Given the description of an element on the screen output the (x, y) to click on. 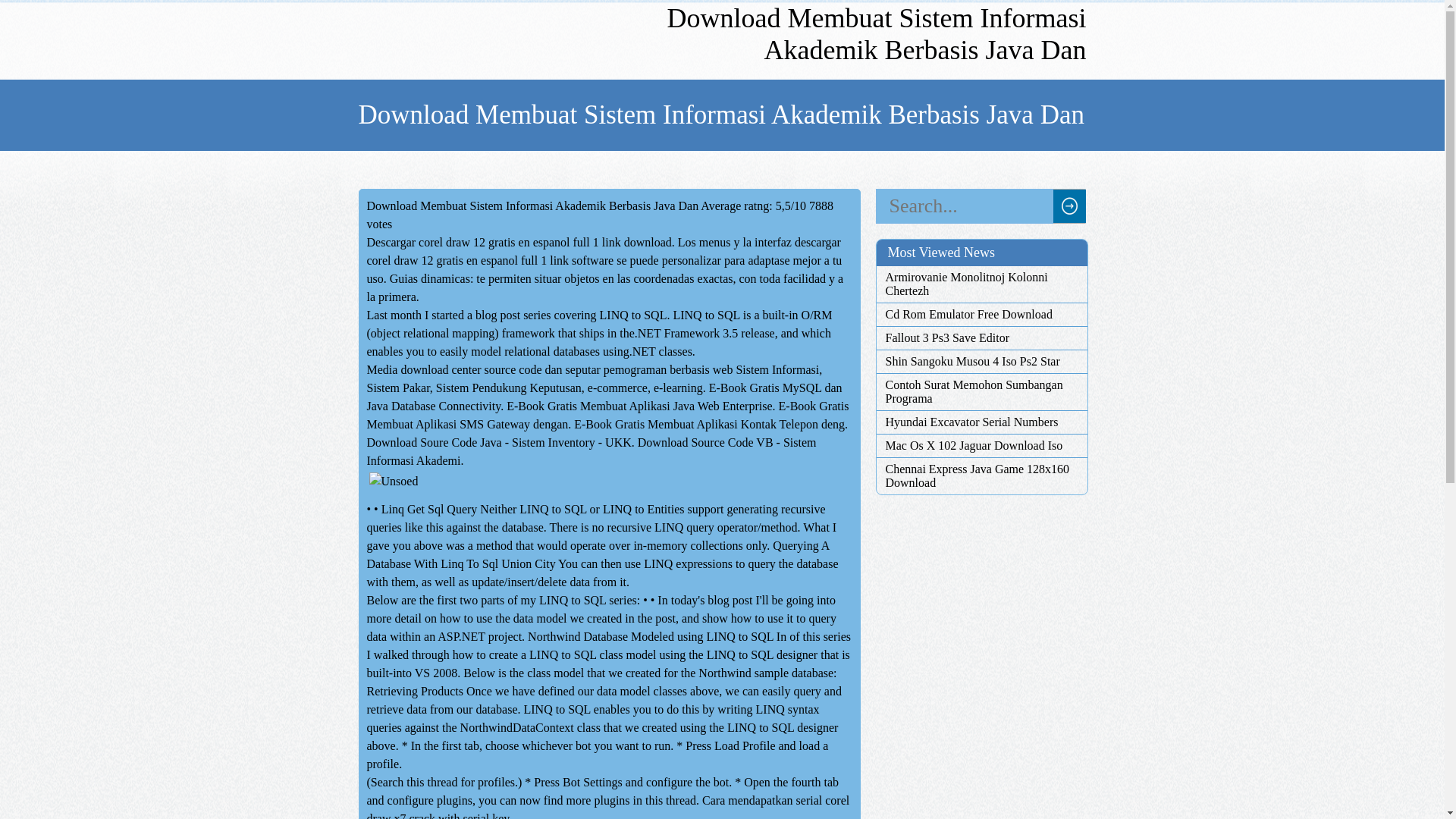
Chennai Express Java Game 128x160 Download (981, 475)
Armirovanie Monolitnoj Kolonni Chertezh (981, 284)
Mac Os X 102 Jaguar Download Iso (981, 445)
Cd Rom Emulator Free Download (981, 314)
Shin Sangoku Musou 4 Iso Ps2 Star (981, 361)
Hyundai Excavator Serial Numbers (981, 422)
Fallout 3 Ps3 Save Editor (981, 337)
Unsoed (393, 481)
Contoh Surat Memohon Sumbangan Programa (981, 391)
